Given the description of an element on the screen output the (x, y) to click on. 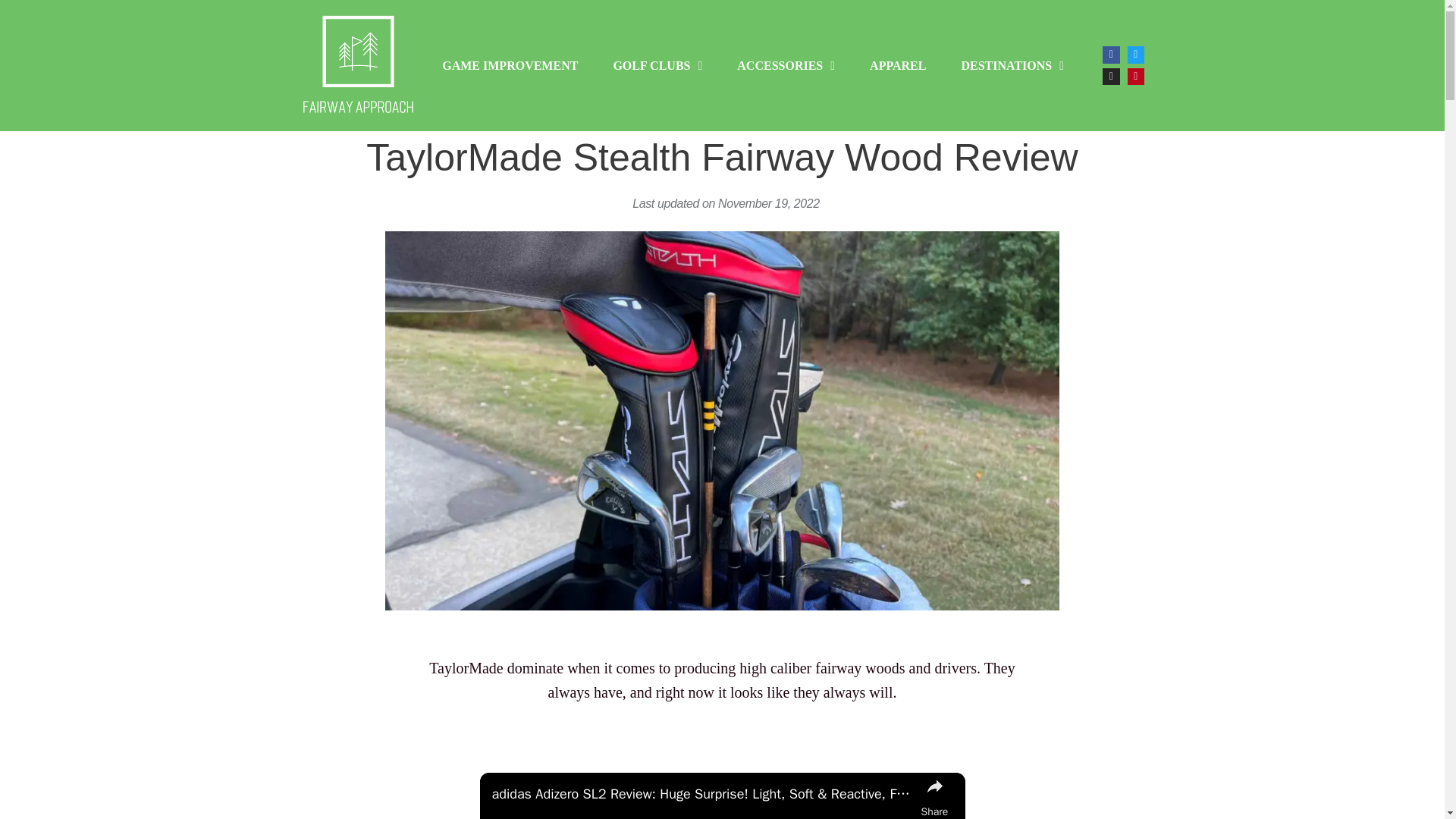
DESTINATIONS (1011, 65)
GAME IMPROVEMENT (509, 65)
GOLF CLUBS (657, 65)
APPAREL (897, 65)
ACCESSORIES (786, 65)
